Given the description of an element on the screen output the (x, y) to click on. 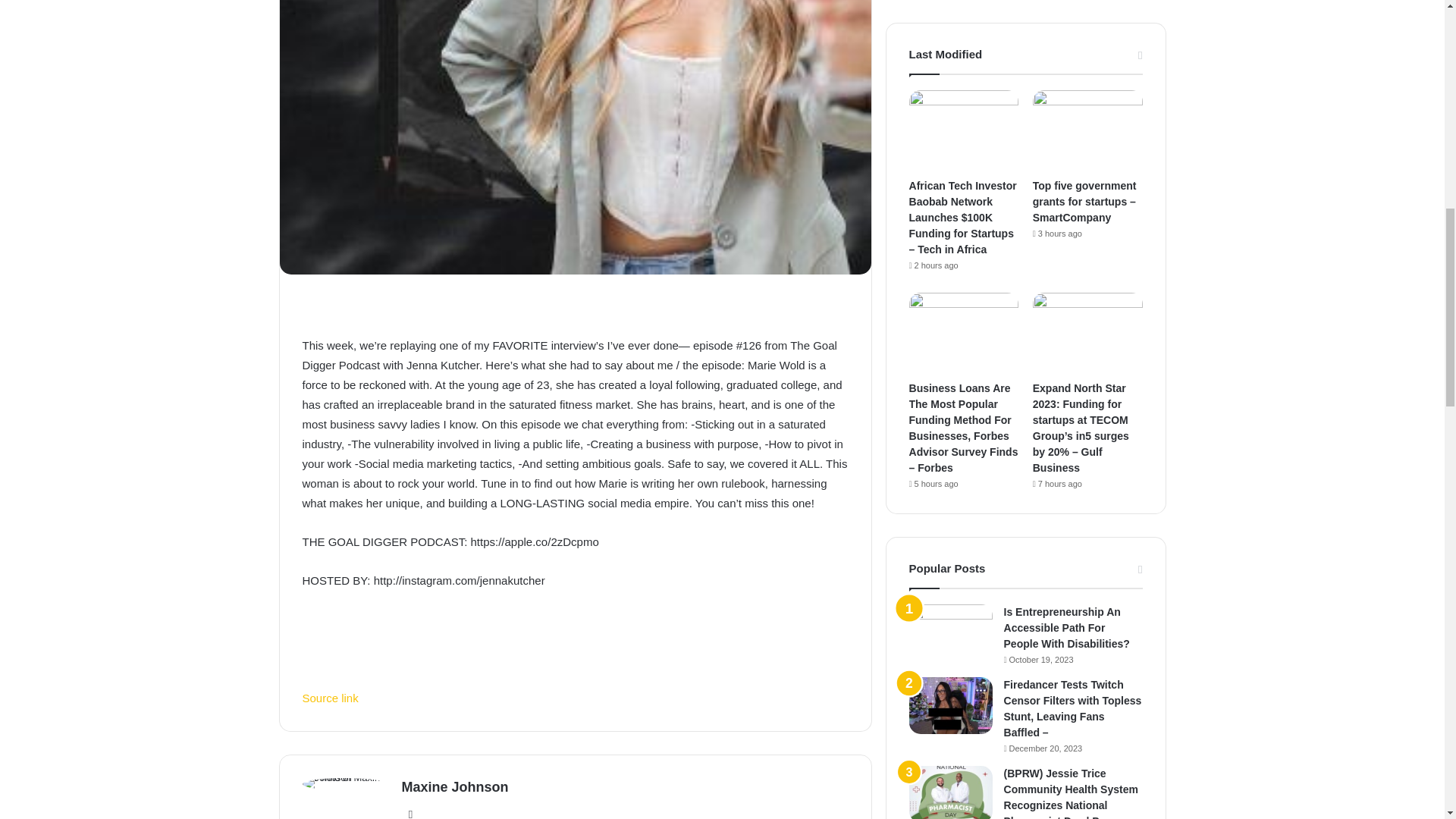
Website (410, 812)
Maxine Johnson (454, 786)
Source link (329, 697)
